Given the description of an element on the screen output the (x, y) to click on. 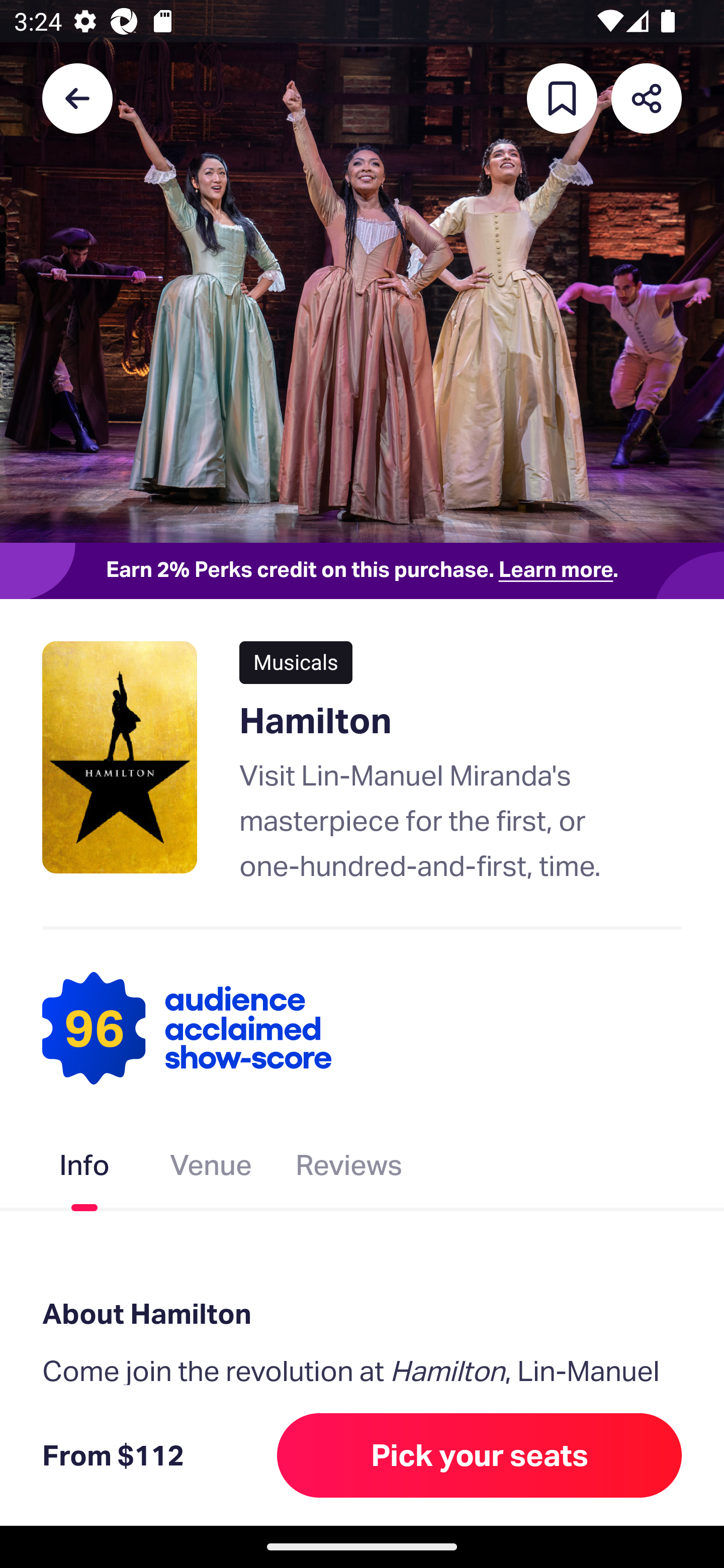
Earn 2% Perks credit on this purchase. Learn more. (362, 570)
Venue (210, 1168)
Reviews (348, 1168)
About Hamilton (361, 1313)
Pick your seats (479, 1454)
